Given the description of an element on the screen output the (x, y) to click on. 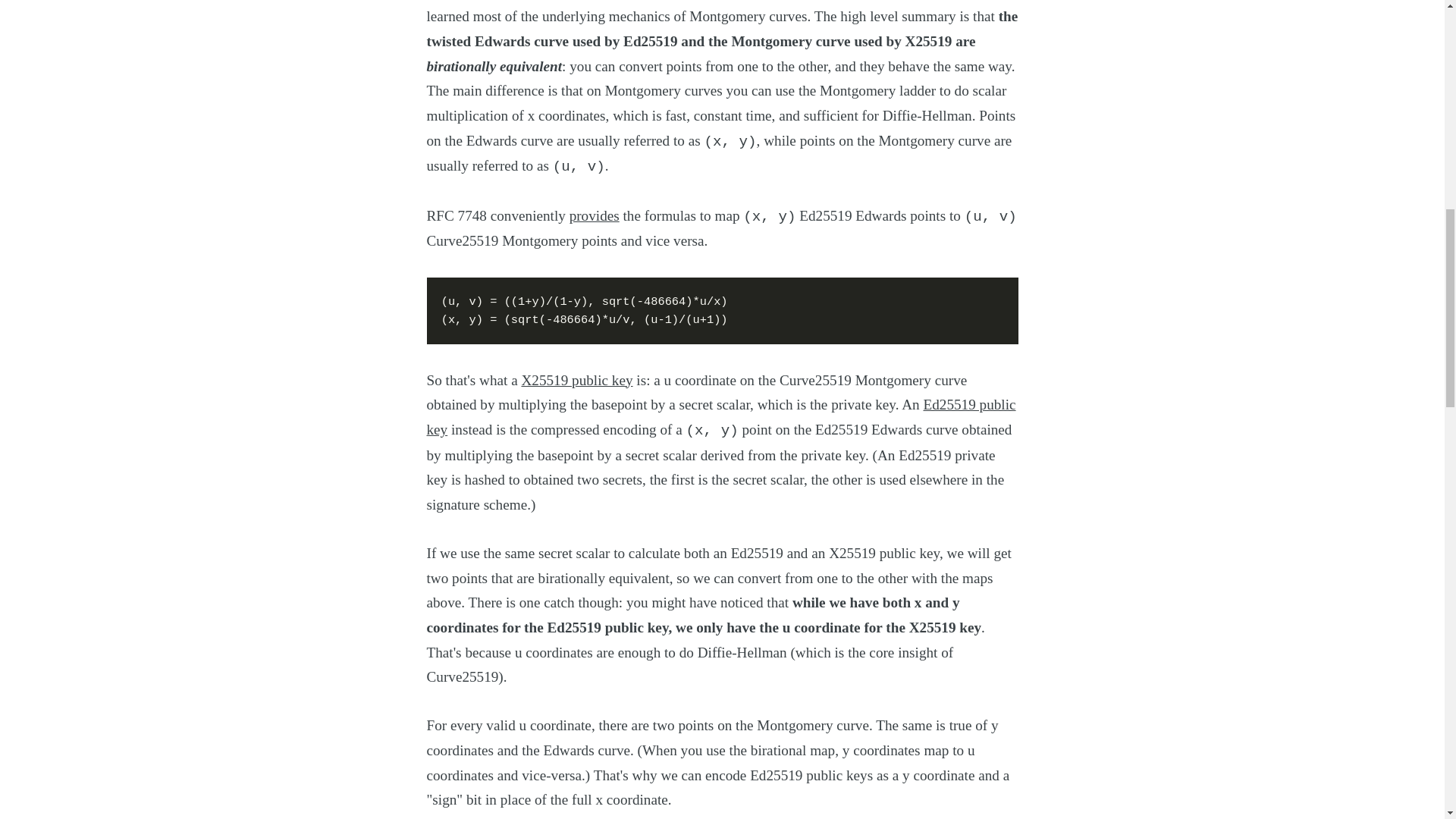
provides (594, 215)
Ed25519 public key (720, 416)
X25519 public key (576, 380)
